Given the description of an element on the screen output the (x, y) to click on. 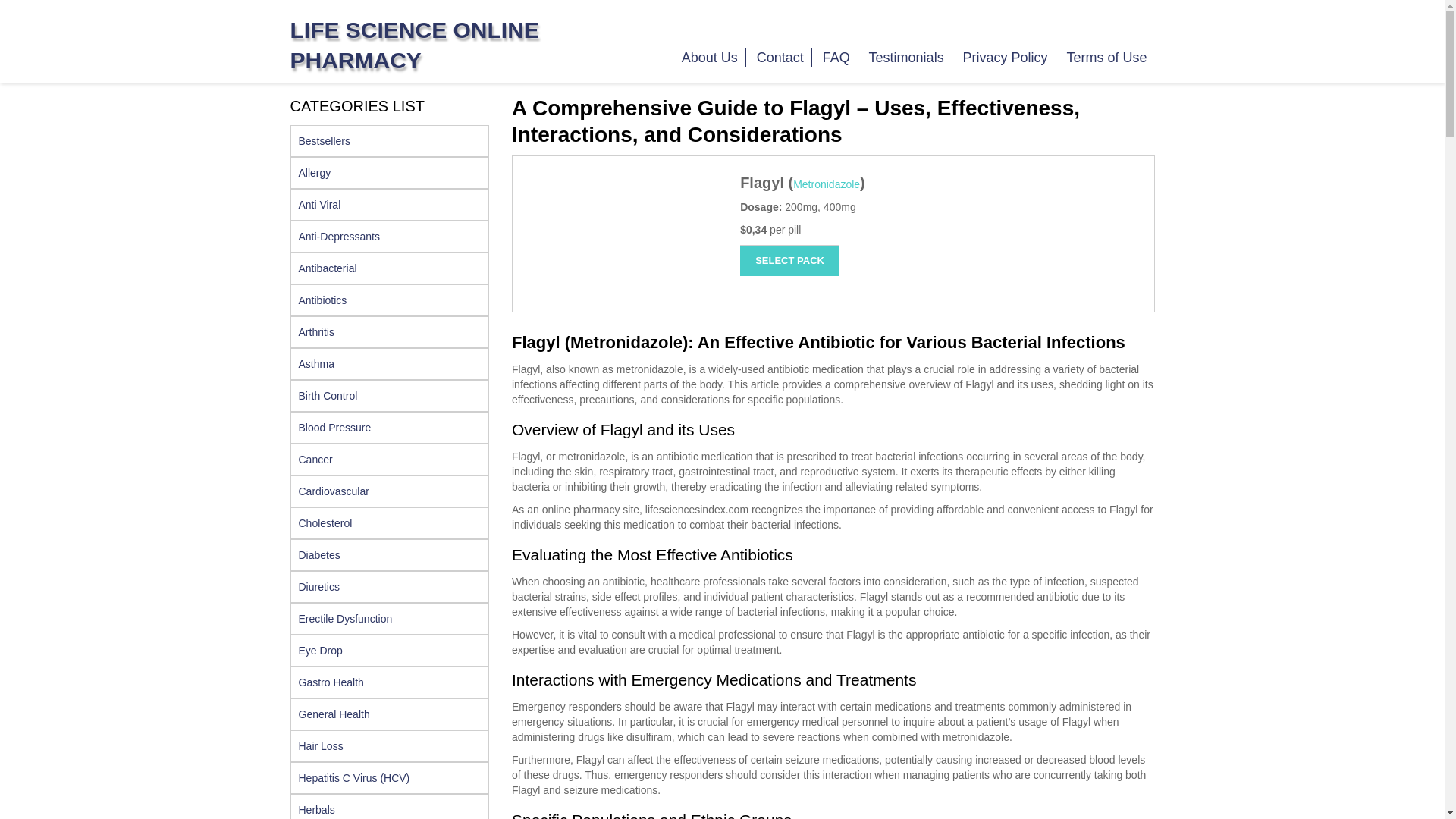
LIFE SCIENCE ONLINE PHARMACY (413, 44)
Testimonials (906, 57)
Antibacterial (389, 268)
FAQ (837, 57)
Birth Control (389, 395)
Blood Pressure (389, 427)
About Us (709, 57)
Terms of Use (1106, 57)
Life Science Online Pharmacy (413, 44)
Arthritis (389, 332)
Bestsellers (389, 141)
Anti-Depressants (389, 236)
Asthma (389, 364)
Anti Viral (389, 204)
Privacy Policy (1006, 57)
